Given the description of an element on the screen output the (x, y) to click on. 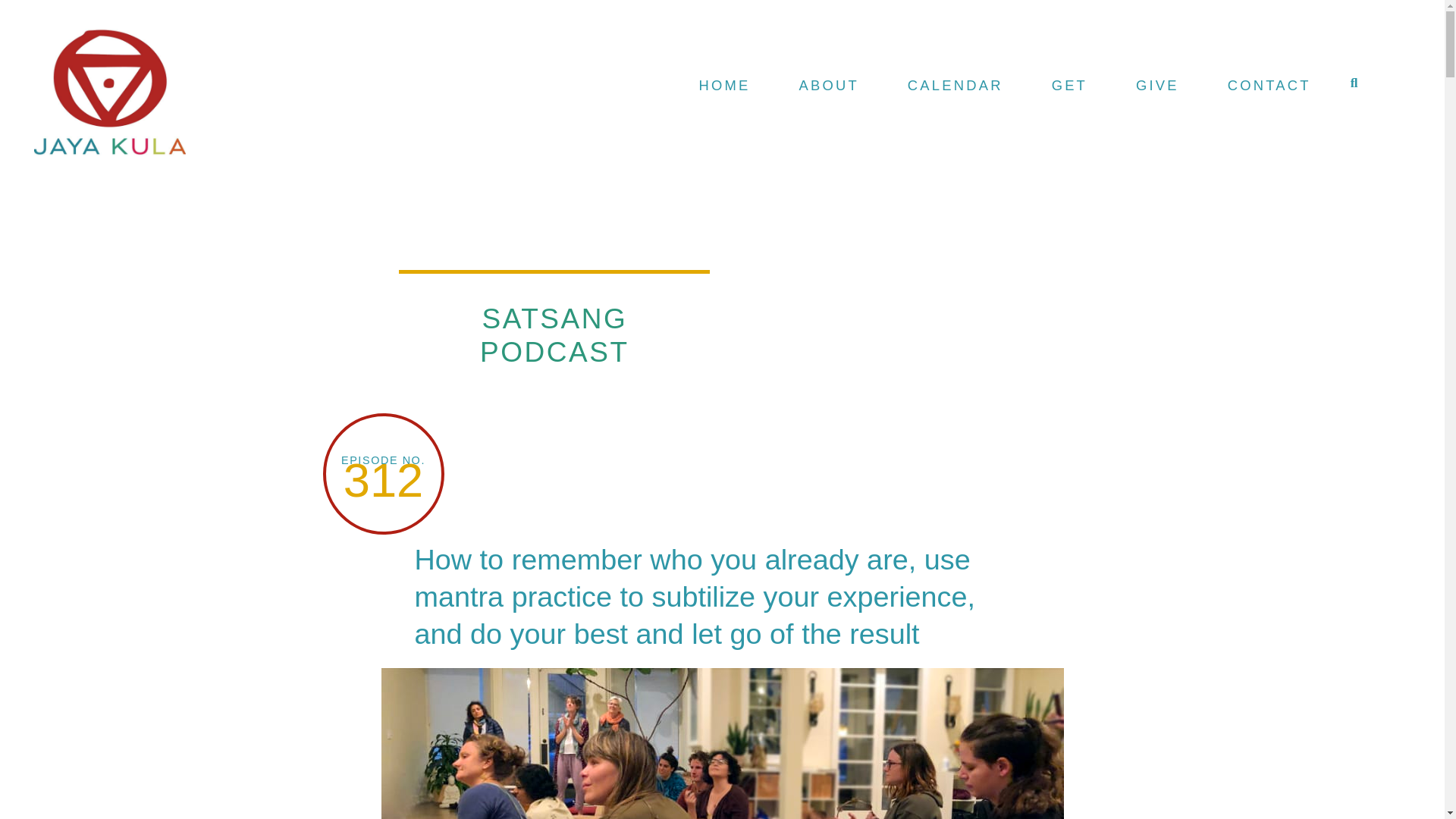
CALENDAR (955, 83)
CONTACT (1269, 83)
ABOUT (828, 83)
HOME (724, 83)
